Given the description of an element on the screen output the (x, y) to click on. 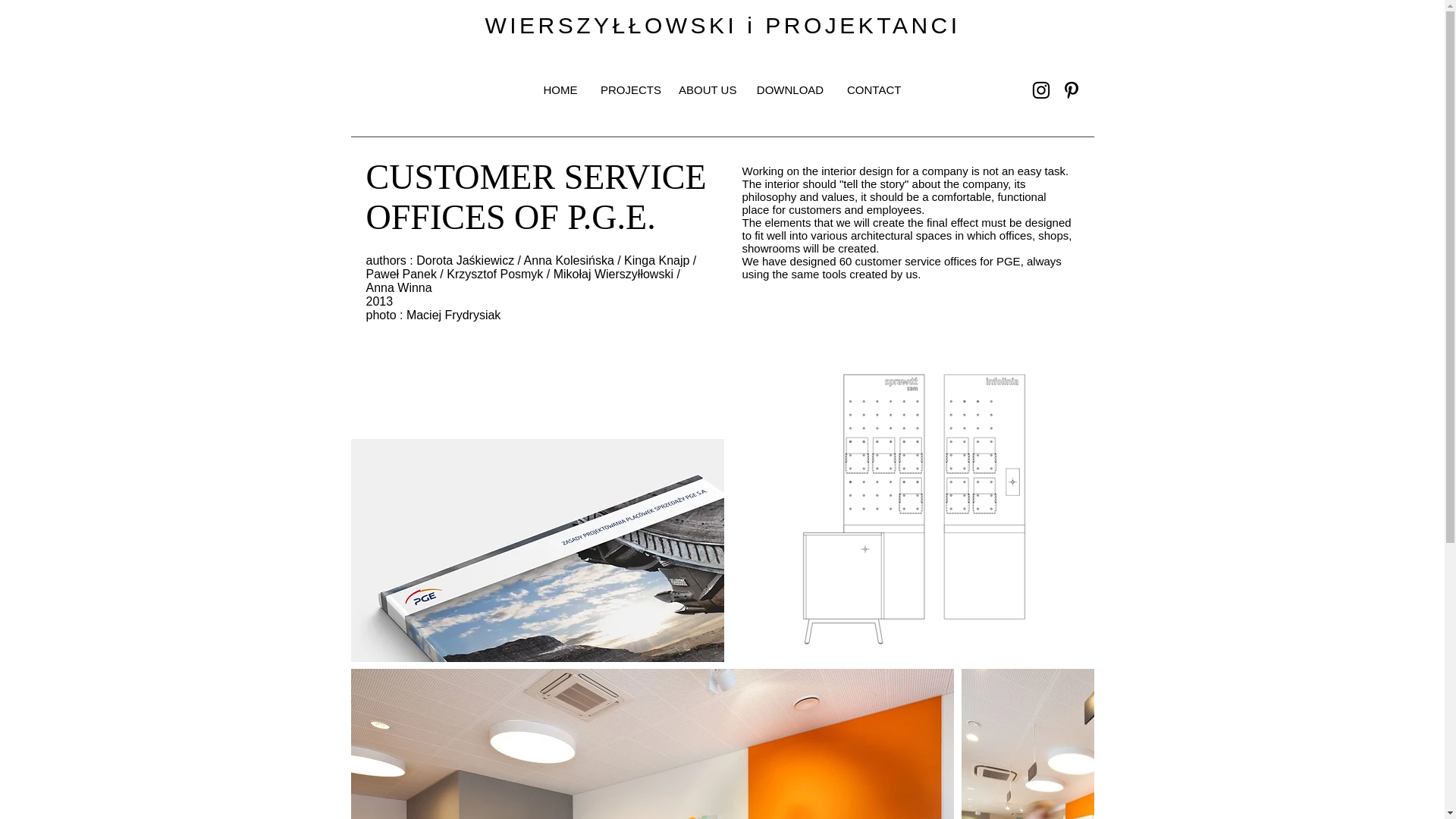
PROJECTS (627, 89)
CONTACT (873, 89)
HOME (560, 89)
DOWNLOAD (789, 89)
ABOUT US (705, 89)
